Given the description of an element on the screen output the (x, y) to click on. 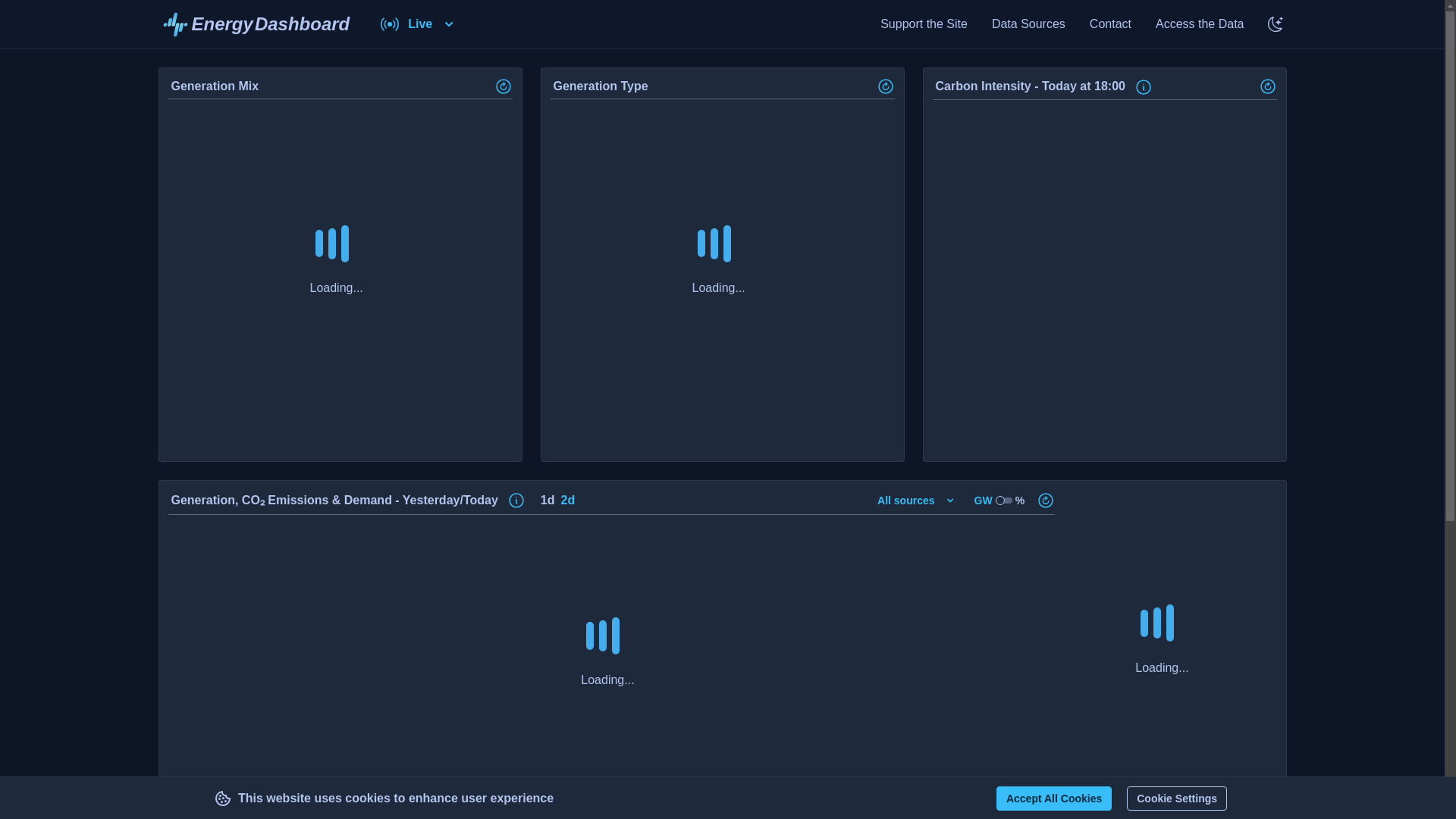
Live (255, 23)
All sources (418, 23)
more info (916, 500)
Accept All Cookies (1143, 86)
Data Sources (1053, 797)
Contact (1028, 23)
Support the Site (1109, 23)
Cookie Settings (923, 23)
Access the Data (1176, 797)
Energy Dashboard Logo (1199, 23)
on (255, 23)
